Given the description of an element on the screen output the (x, y) to click on. 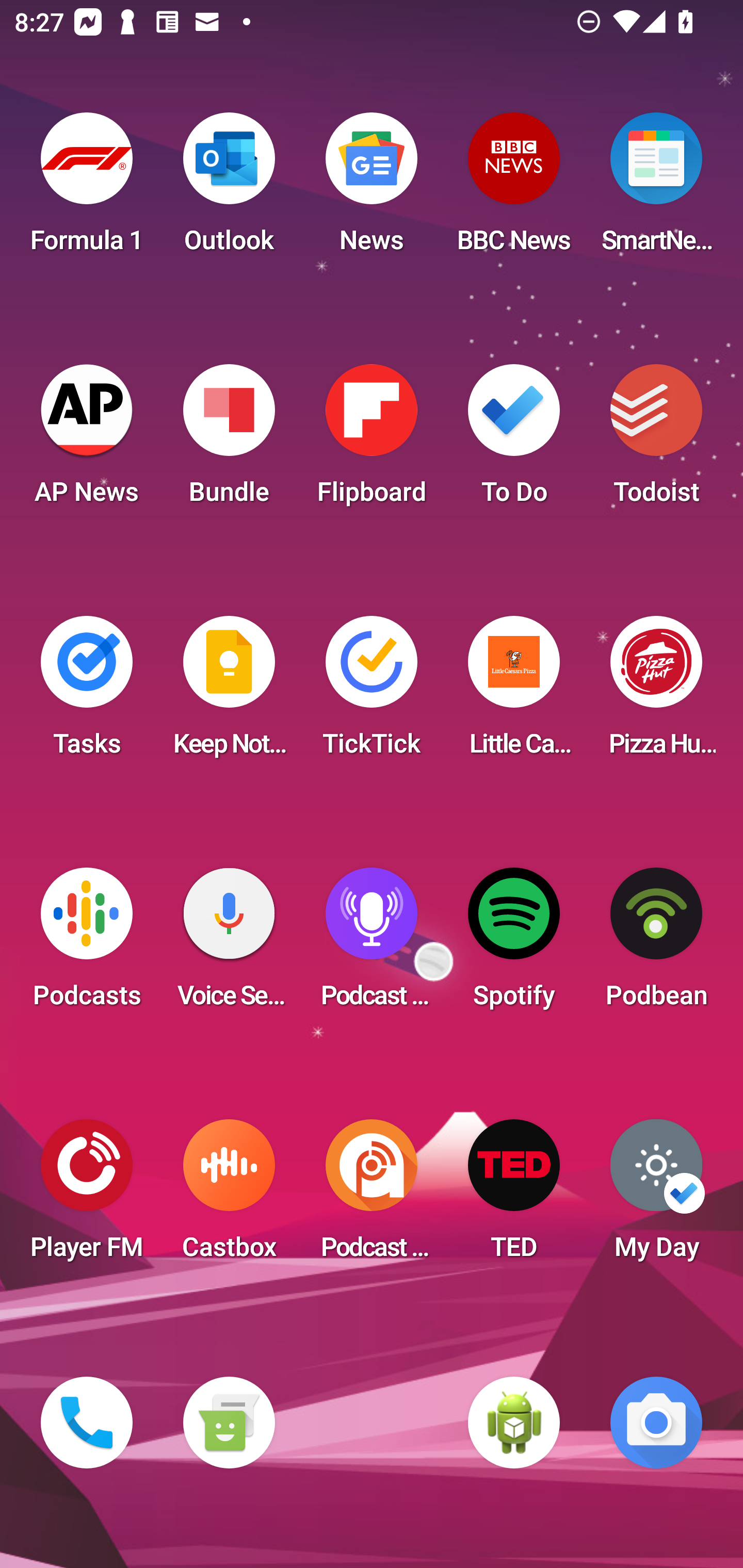
Formula 1 (86, 188)
Outlook (228, 188)
News (371, 188)
BBC News (513, 188)
SmartNews (656, 188)
AP News (86, 440)
Bundle (228, 440)
Flipboard (371, 440)
To Do (513, 440)
Todoist (656, 440)
Tasks (86, 692)
Keep Notes (228, 692)
TickTick (371, 692)
Little Caesars Pizza (513, 692)
Pizza Hut HK & Macau (656, 692)
Podcasts (86, 943)
Voice Search (228, 943)
Podcast Player (371, 943)
Spotify (513, 943)
Podbean (656, 943)
Player FM (86, 1195)
Castbox (228, 1195)
Podcast Addict (371, 1195)
TED (513, 1195)
My Day (656, 1195)
Phone (86, 1422)
Messaging (228, 1422)
WebView Browser Tester (513, 1422)
Camera (656, 1422)
